Given the description of an element on the screen output the (x, y) to click on. 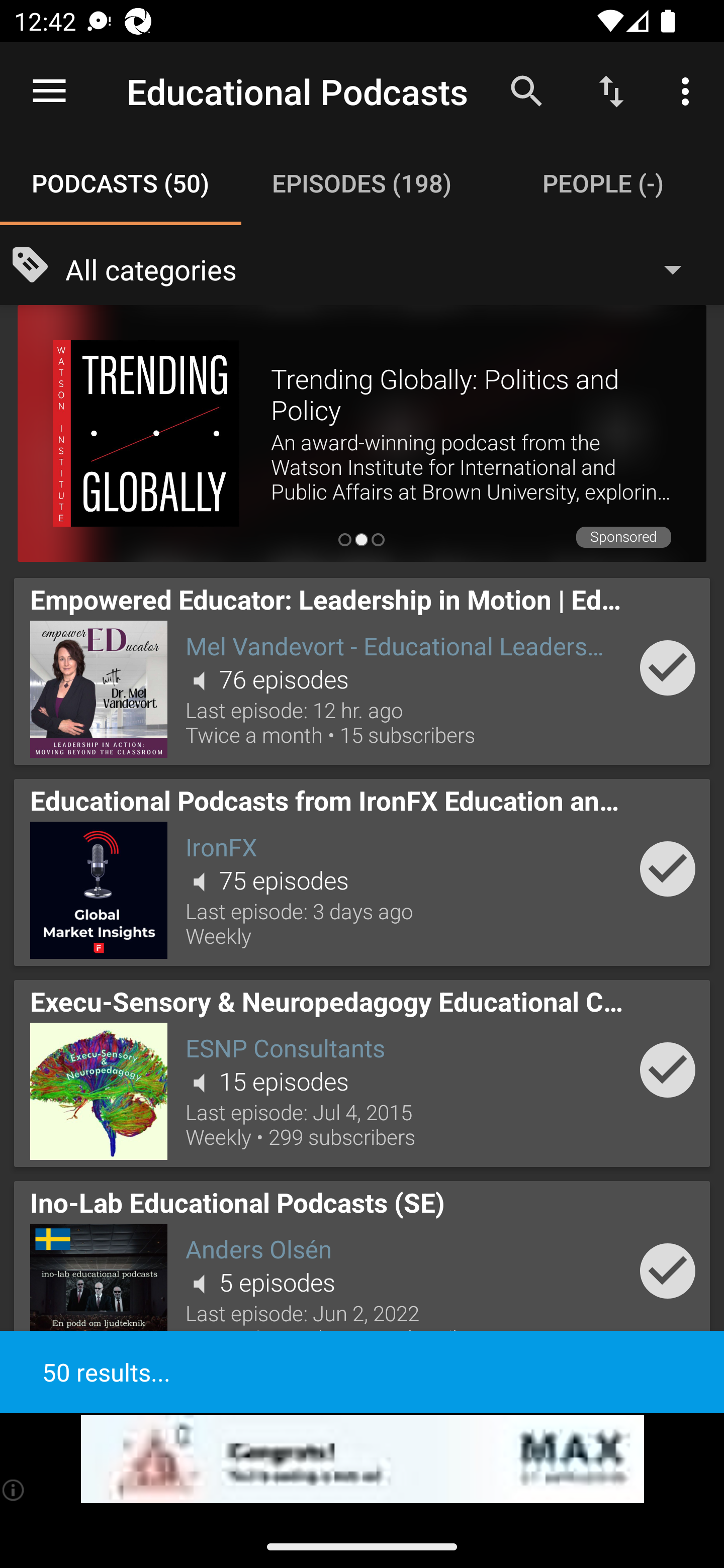
Open navigation sidebar (49, 91)
Search (526, 90)
Sort (611, 90)
More options (688, 90)
Episodes (198) EPISODES (198) (361, 183)
People (-) PEOPLE (-) (603, 183)
All categories (383, 268)
Add (667, 667)
Add (667, 868)
Add (667, 1069)
Add (667, 1271)
app-monetization (362, 1459)
(i) (14, 1489)
